Given the description of an element on the screen output the (x, y) to click on. 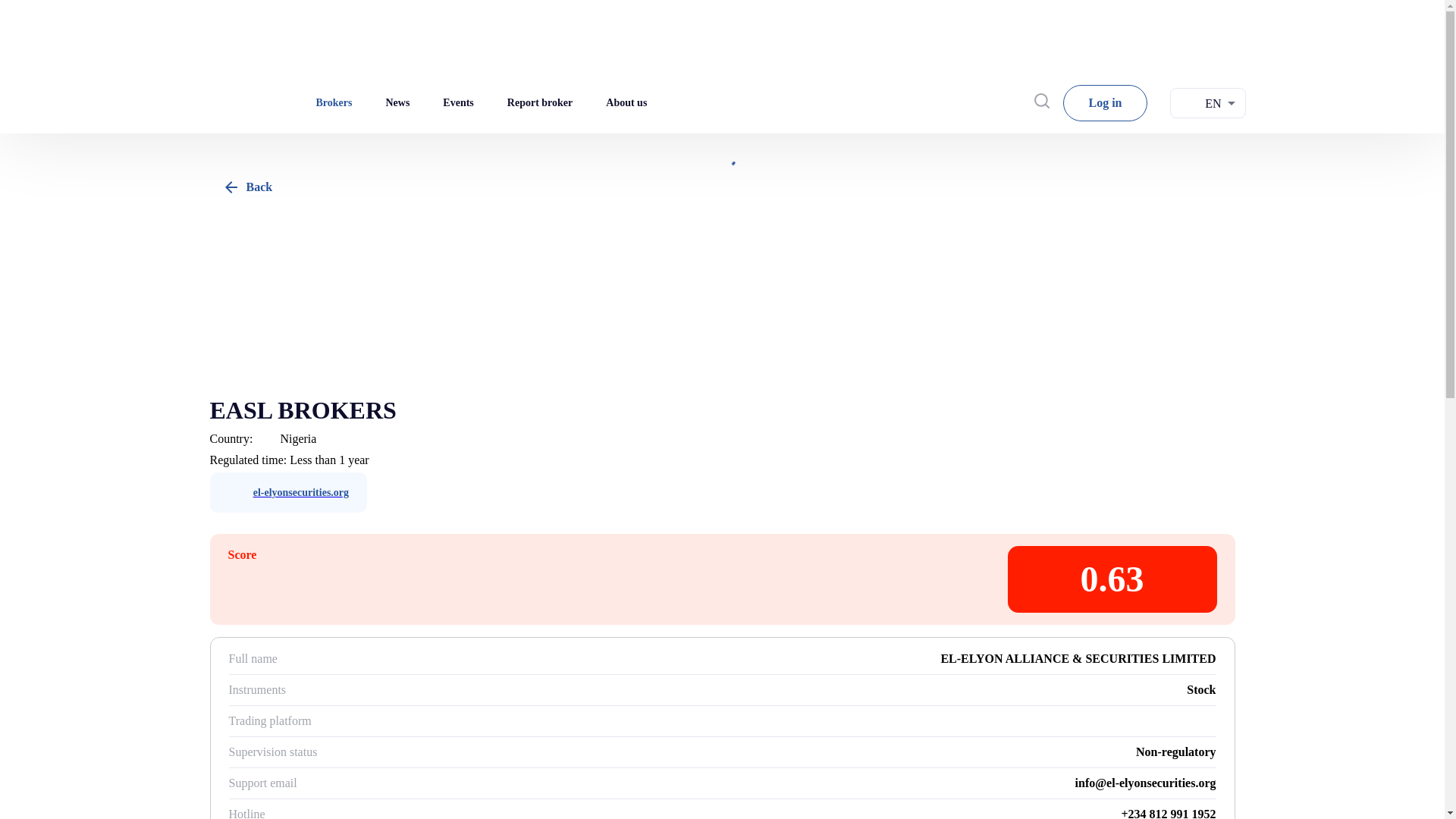
el-elyonsecurities.org (287, 492)
Back (246, 186)
News (398, 102)
Log in (1104, 103)
Report broker (539, 102)
Report broker (541, 102)
Events (460, 102)
Brokers (334, 102)
About us (628, 102)
